Given the description of an element on the screen output the (x, y) to click on. 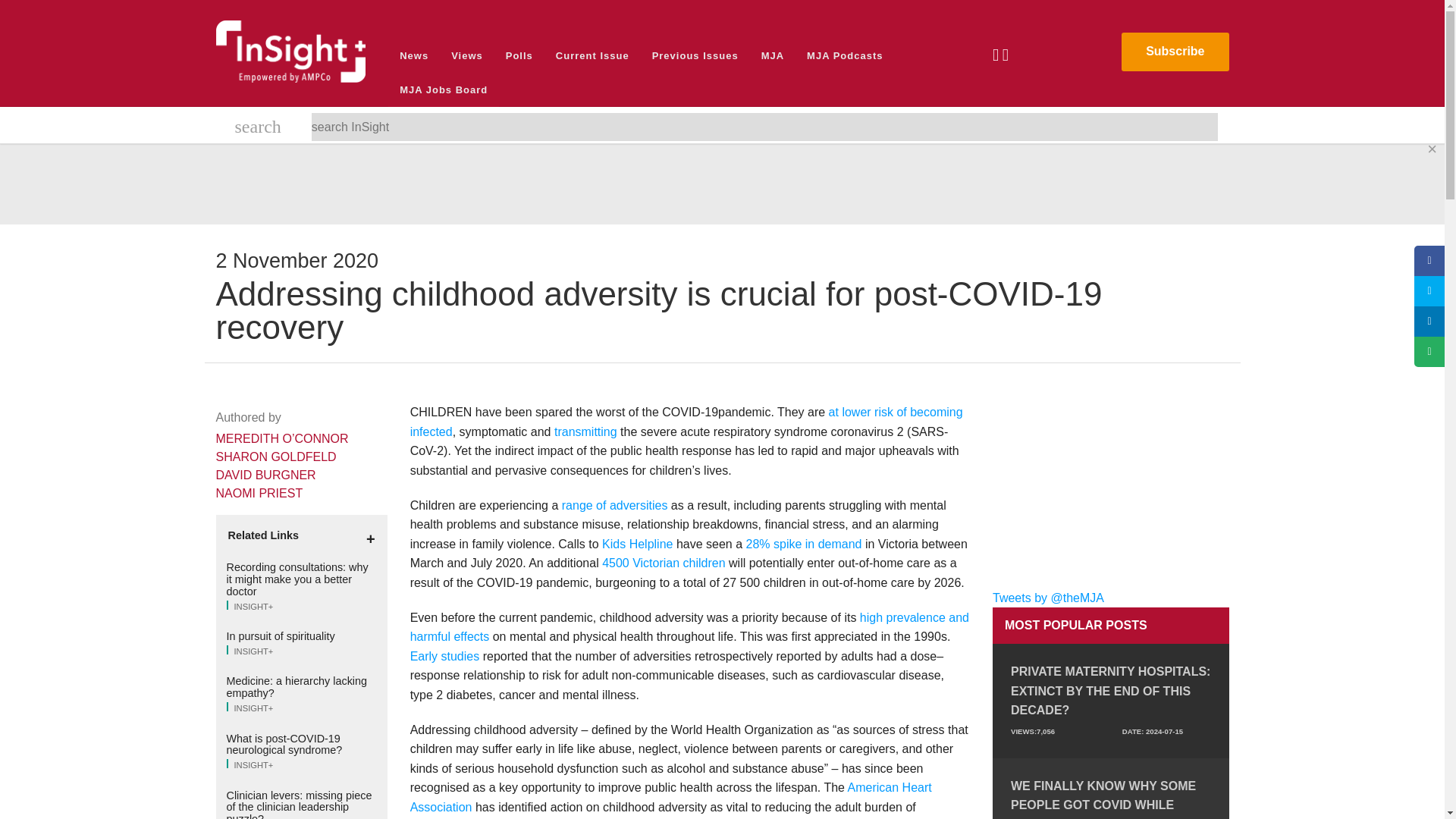
MJA Jobs Board (443, 89)
Subscribe (1174, 51)
transmitting (587, 431)
News (413, 55)
MJA Podcasts (843, 55)
Previous Issues (694, 55)
Related Links (301, 535)
MJA (771, 55)
Current Issue (592, 55)
Views (467, 55)
at lower risk of becoming infected (686, 421)
search (257, 129)
Polls (519, 55)
Kids Helpline (637, 543)
range of adversities (615, 504)
